Given the description of an element on the screen output the (x, y) to click on. 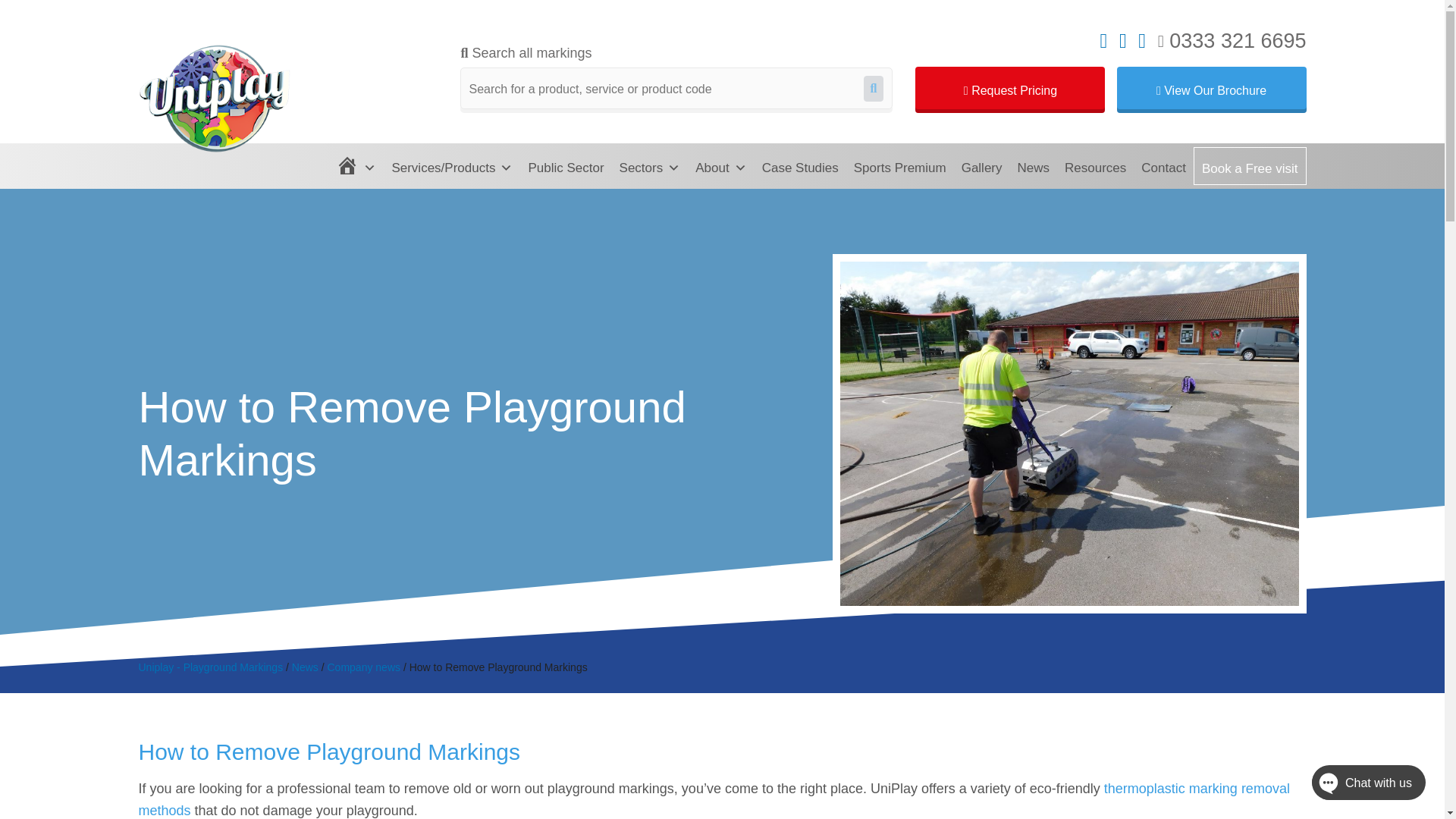
Chat with us (1353, 786)
